Given the description of an element on the screen output the (x, y) to click on. 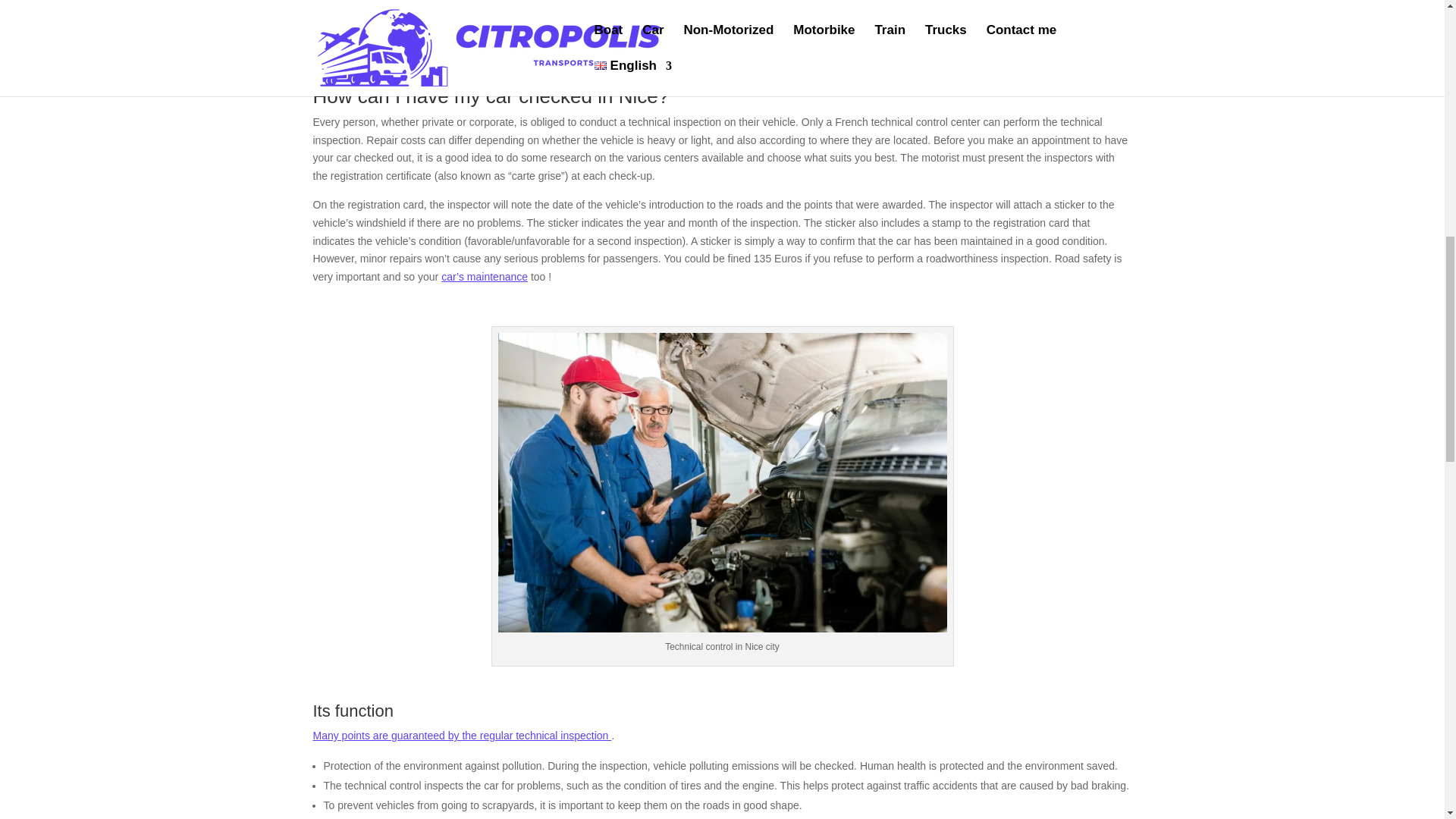
1.2 You are taking a huge risk by not doing it. (470, 19)
1.1 Its function (406, 2)
